Given the description of an element on the screen output the (x, y) to click on. 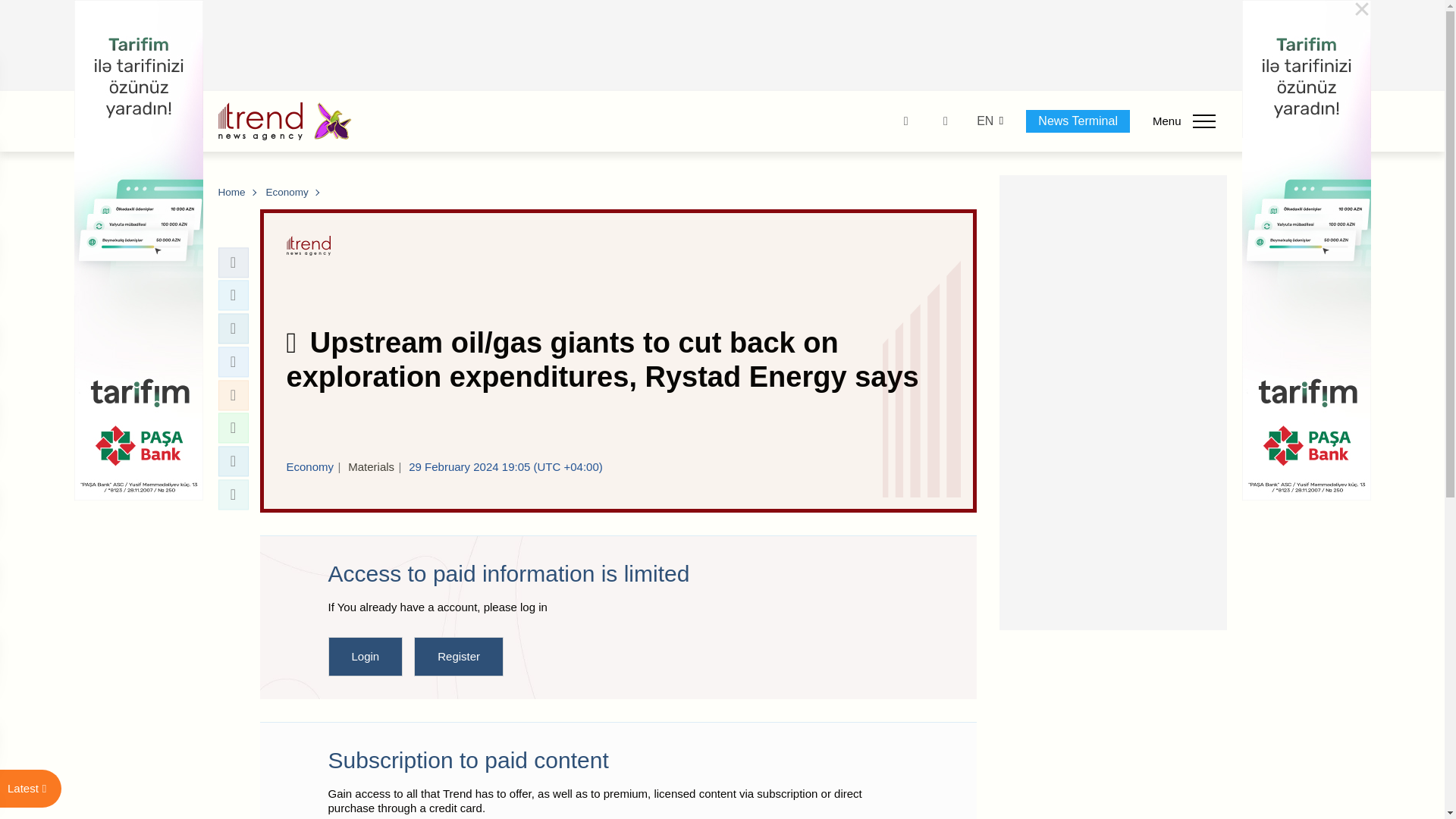
News Terminal (1077, 120)
English (984, 121)
EN (984, 121)
3rd party ad content (722, 45)
